Given the description of an element on the screen output the (x, y) to click on. 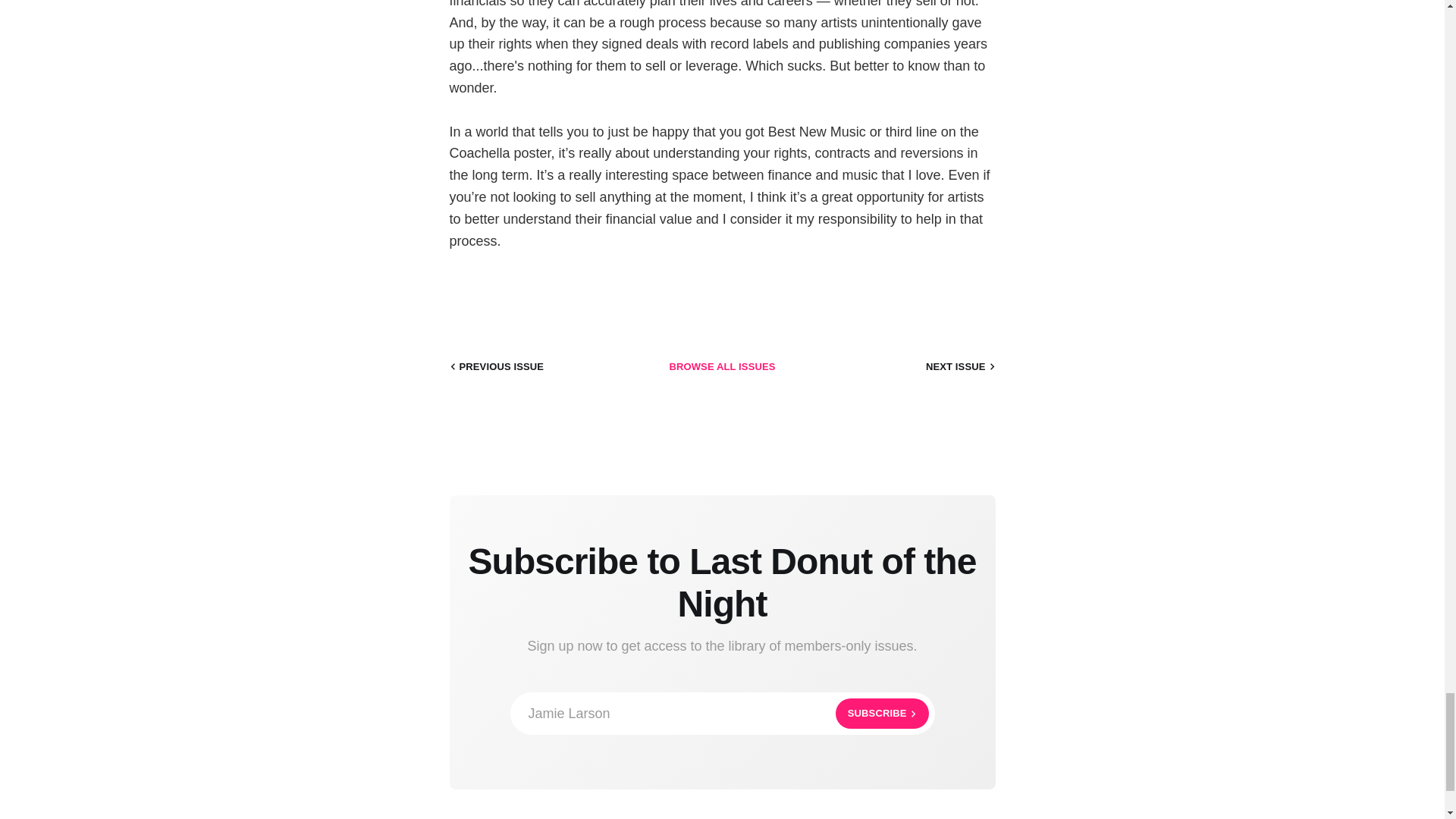
BROWSE ALL ISSUES (721, 366)
